Given the description of an element on the screen output the (x, y) to click on. 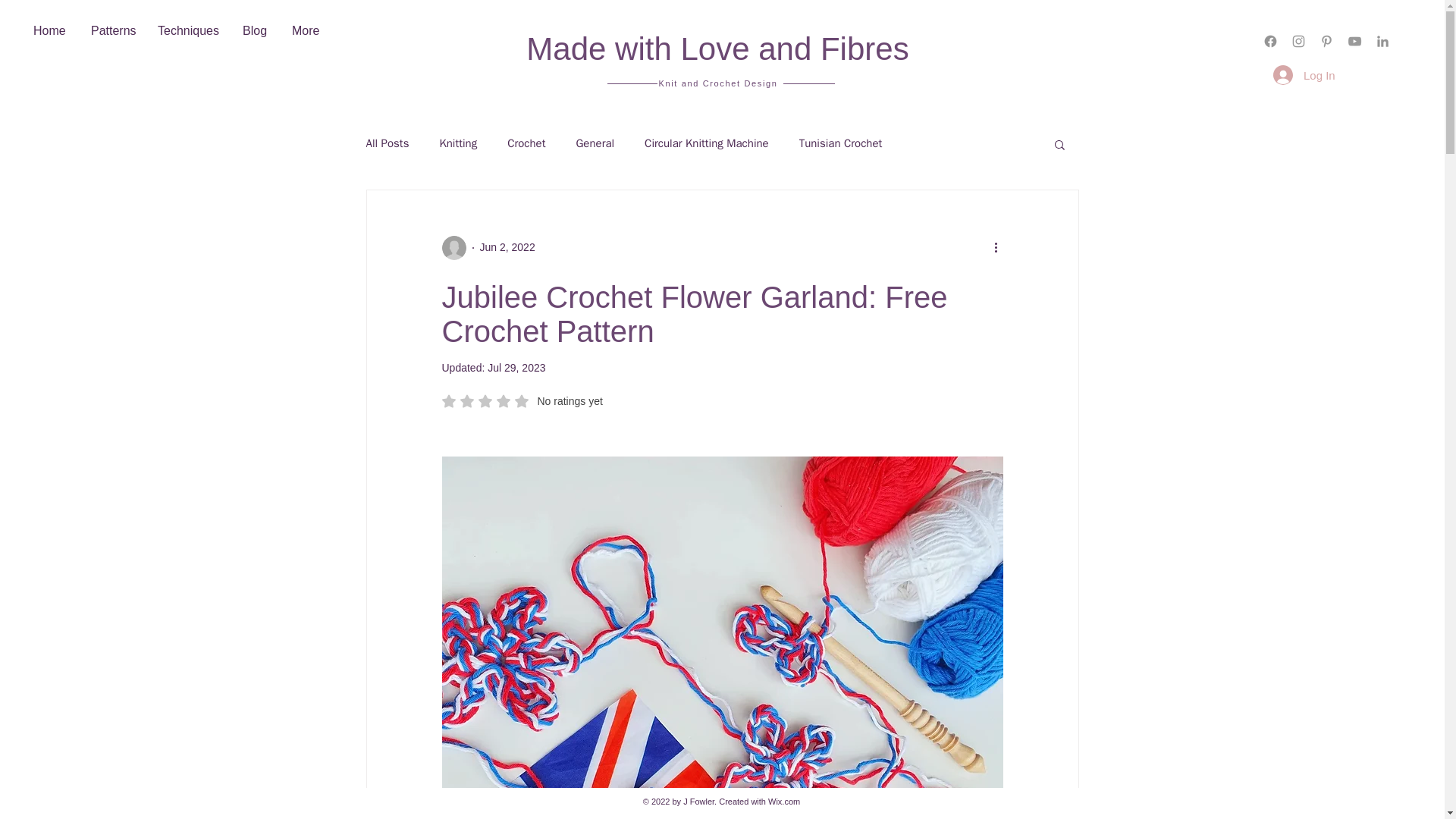
Crochet (525, 143)
Blog (521, 400)
Made with Love and Fibres (254, 30)
Circular Knitting Machine (716, 48)
Tunisian Crochet (706, 143)
Knit and Crochet Design (840, 143)
Home (717, 82)
Techniques (49, 30)
General (187, 30)
Knitting (594, 143)
Patterns (458, 143)
Jun 2, 2022 (111, 30)
Jul 29, 2023 (506, 246)
Log In (515, 367)
